Given the description of an element on the screen output the (x, y) to click on. 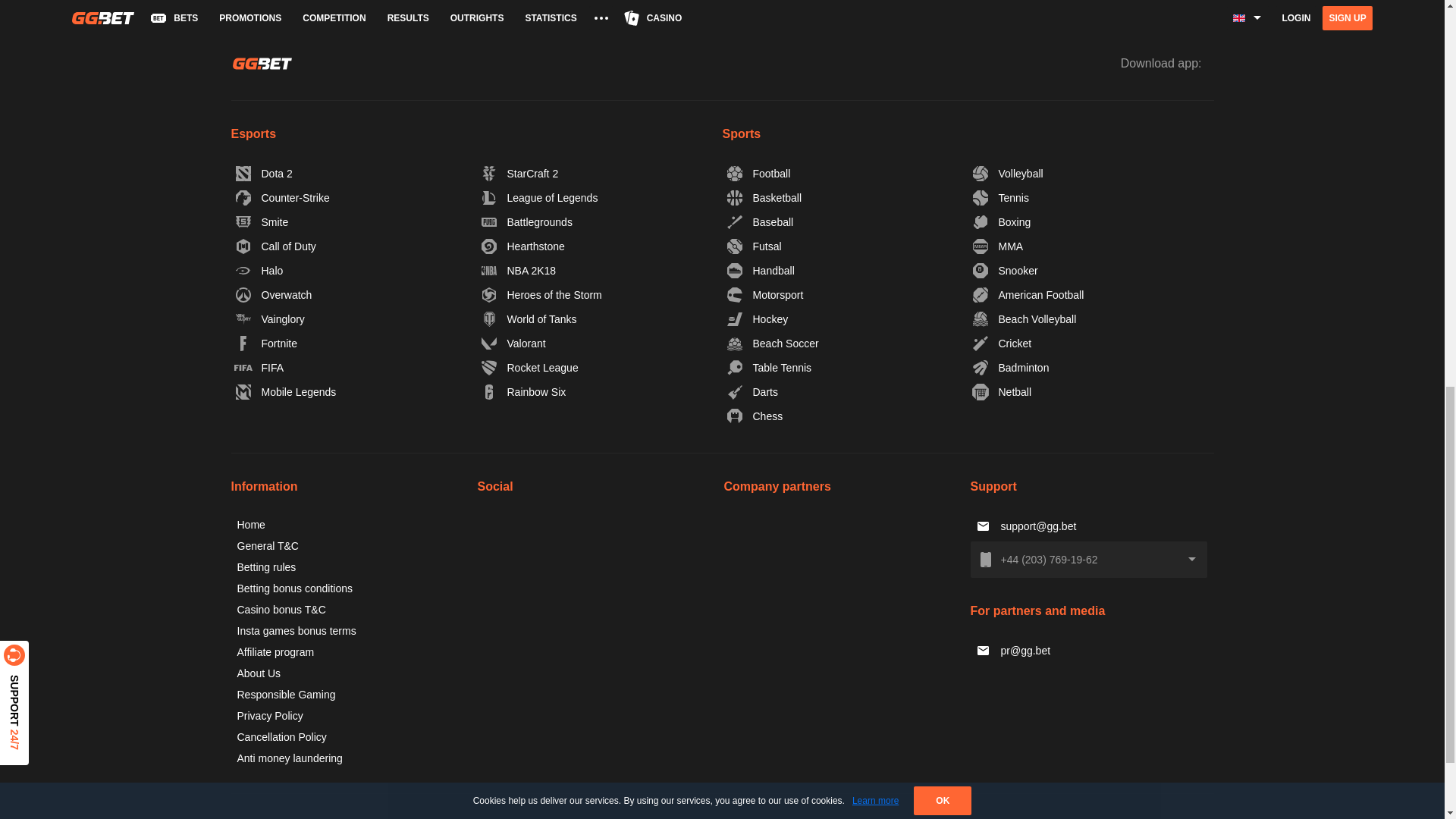
Fortnite (266, 343)
Hearthstone (523, 246)
Vainglory (270, 319)
Smite (262, 221)
Overwatch (273, 294)
World of Tanks (529, 319)
Battlegrounds (527, 221)
Dota 2 (264, 173)
Counter-Strike (282, 197)
Heroes of the Storm (541, 294)
Call of Duty (275, 246)
NBA 2K18 (519, 270)
Valorant (513, 343)
League of Legends (540, 197)
StarCraft 2 (520, 173)
